Given the description of an element on the screen output the (x, y) to click on. 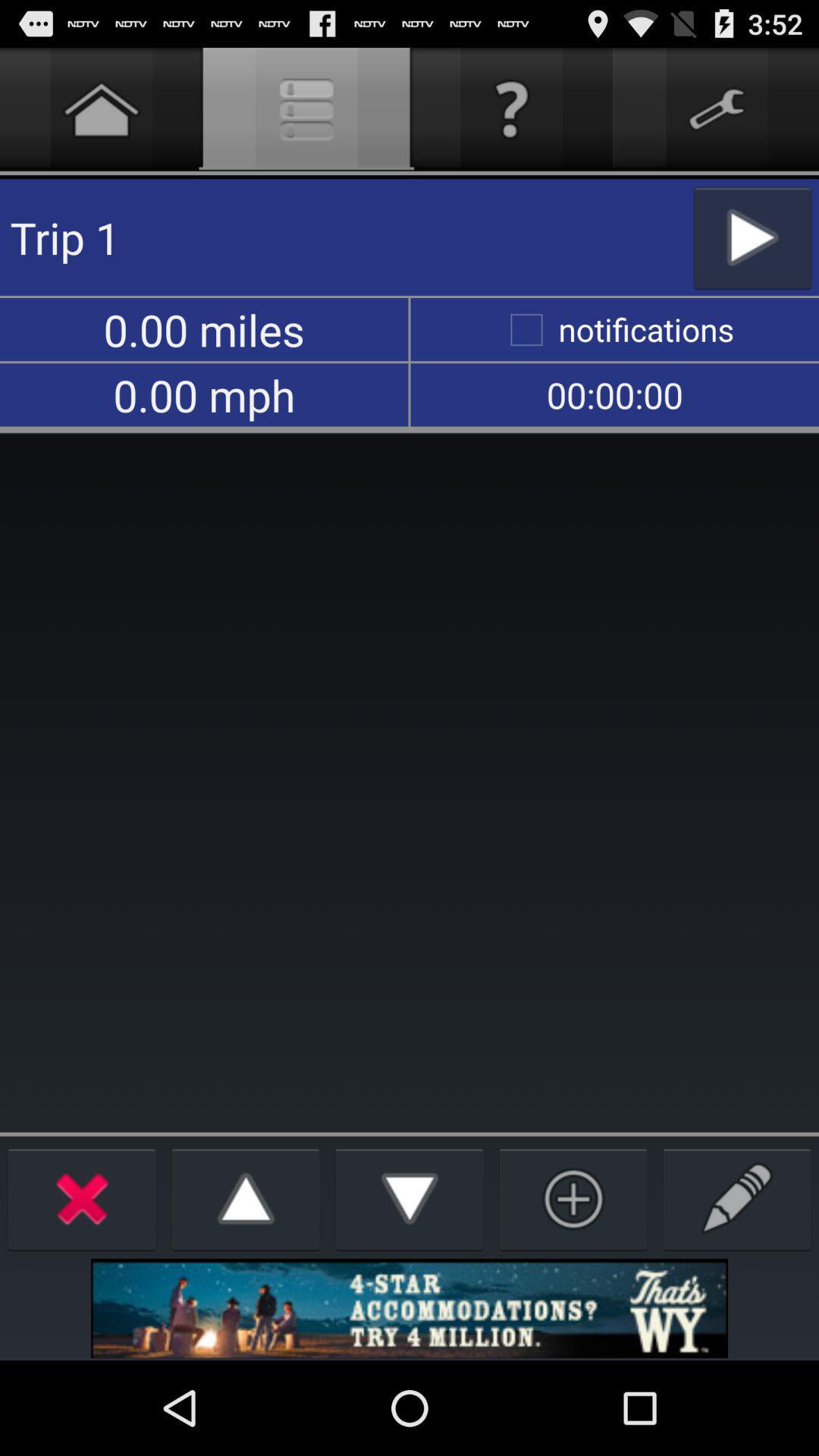
write (737, 1198)
